Given the description of an element on the screen output the (x, y) to click on. 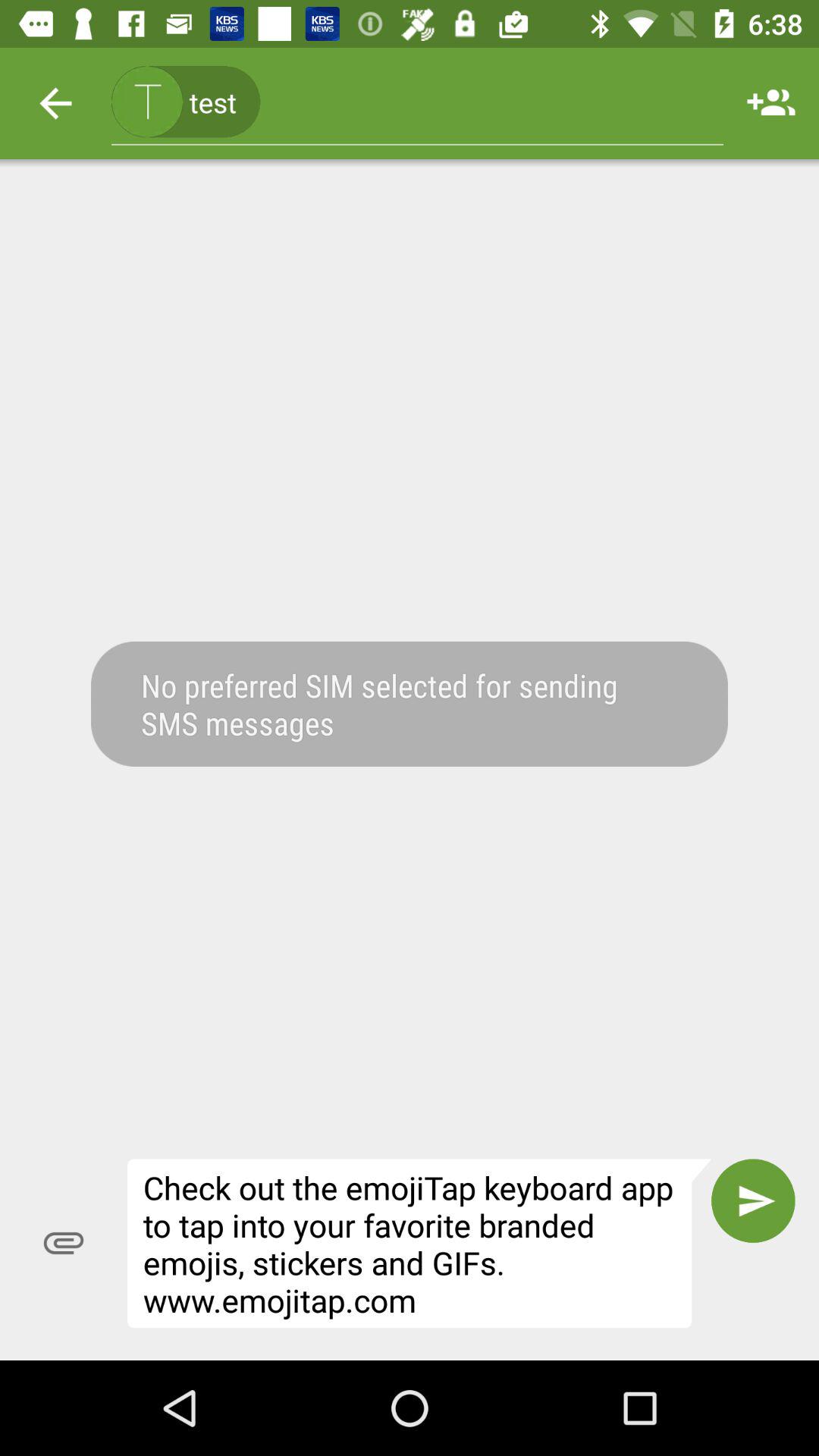
flip until (415) 123-4567,  icon (417, 103)
